Given the description of an element on the screen output the (x, y) to click on. 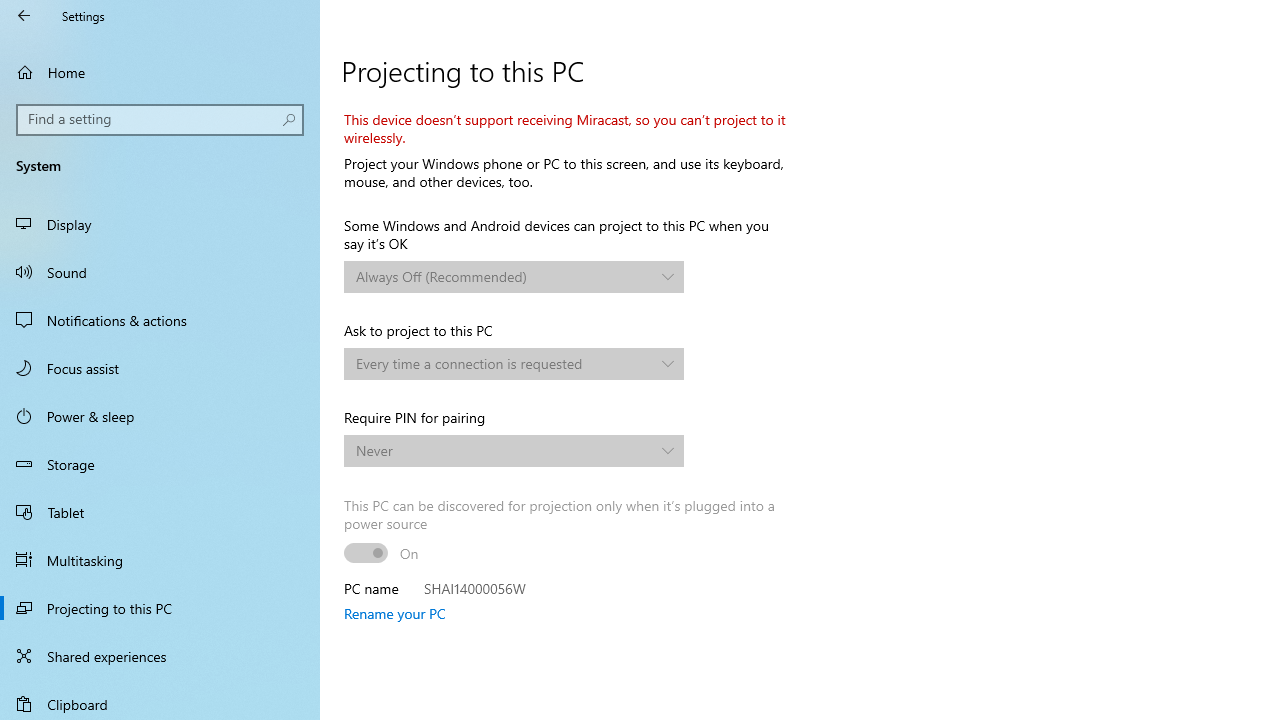
Rename your PC (394, 613)
Tablet (160, 511)
Every time a connection is requested (503, 363)
Focus assist (160, 367)
Ask to project to this PC (513, 363)
